Given the description of an element on the screen output the (x, y) to click on. 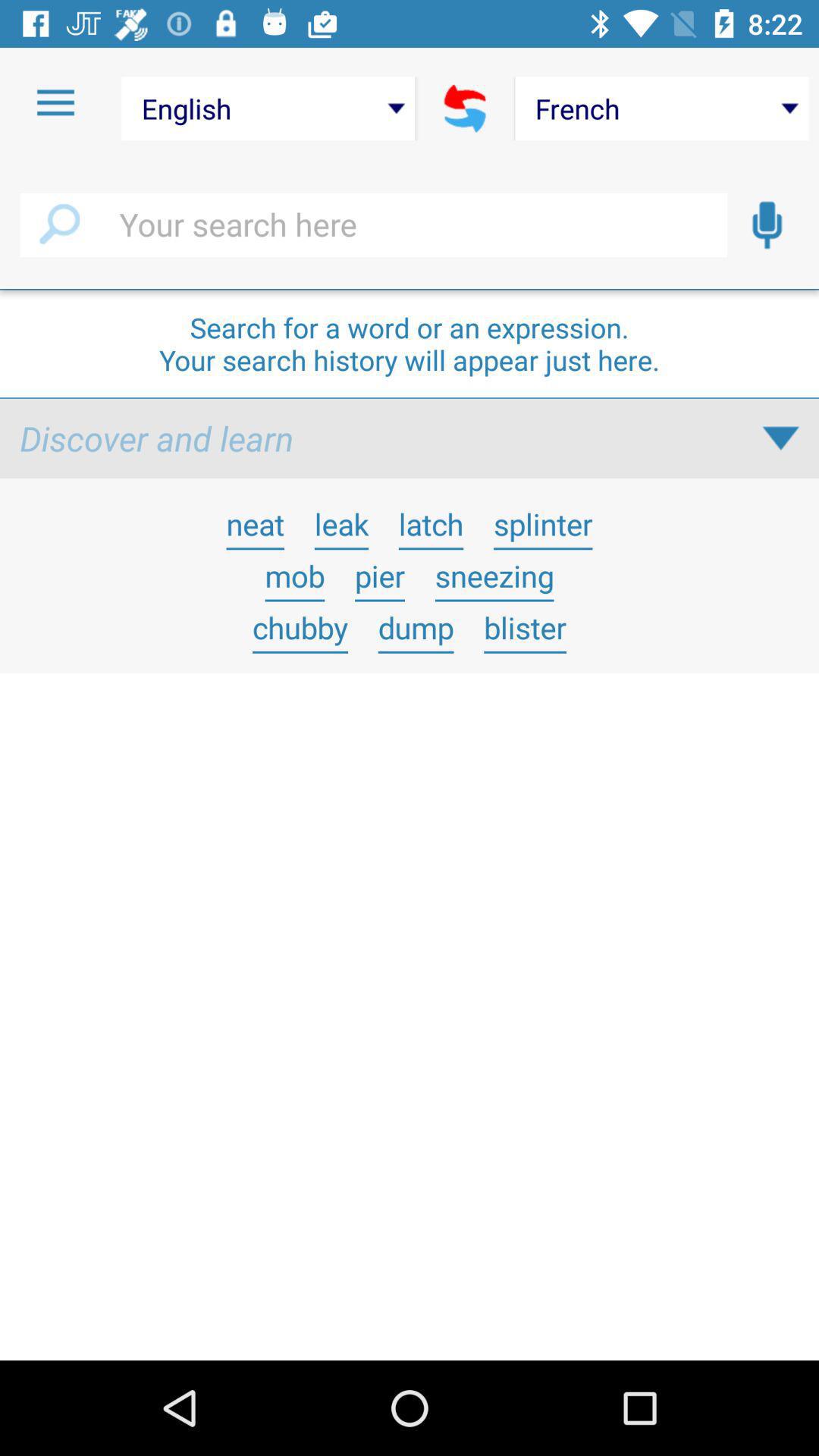
select the item above the mob item (255, 523)
